Given the description of an element on the screen output the (x, y) to click on. 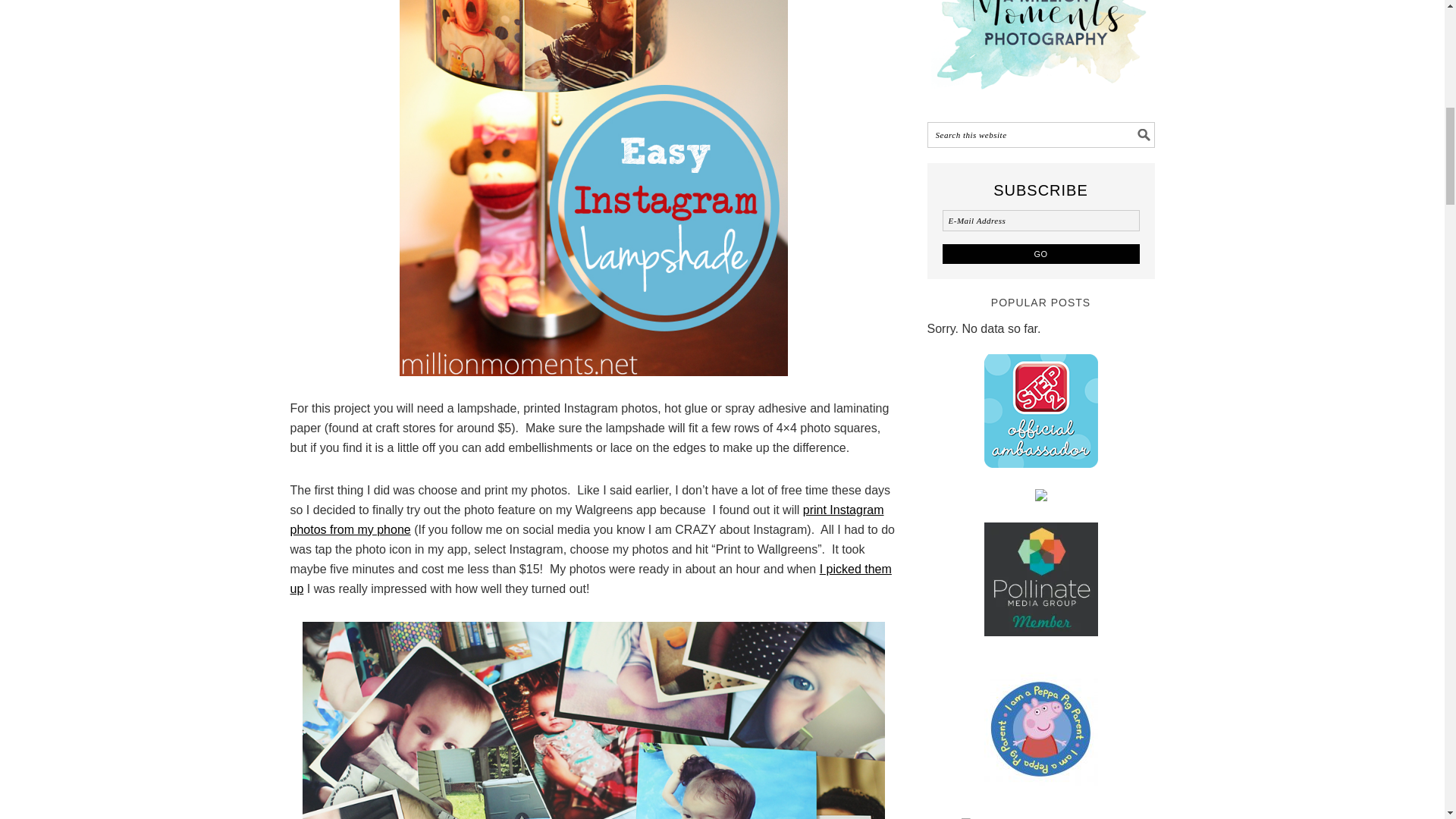
print Instagram photos from my phone (586, 519)
I picked them up (590, 578)
Go (1040, 253)
